Given the description of an element on the screen output the (x, y) to click on. 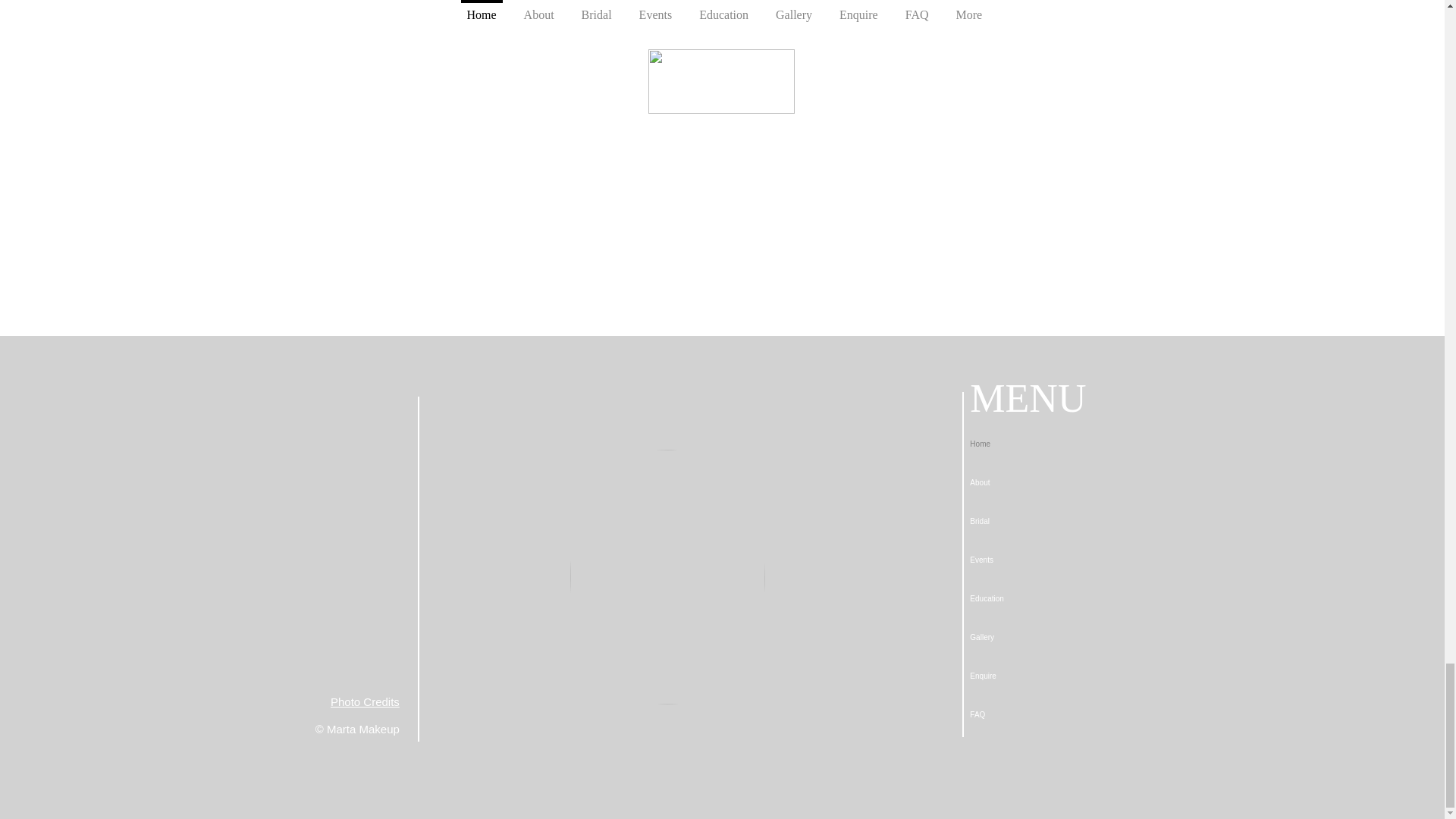
Photo Credits (364, 701)
Education (1023, 598)
Bridal (1023, 521)
Home (1023, 444)
About (1023, 482)
Gallery (1023, 637)
FAQ (1023, 714)
Enquire (1023, 675)
Events (1023, 559)
